Given the description of an element on the screen output the (x, y) to click on. 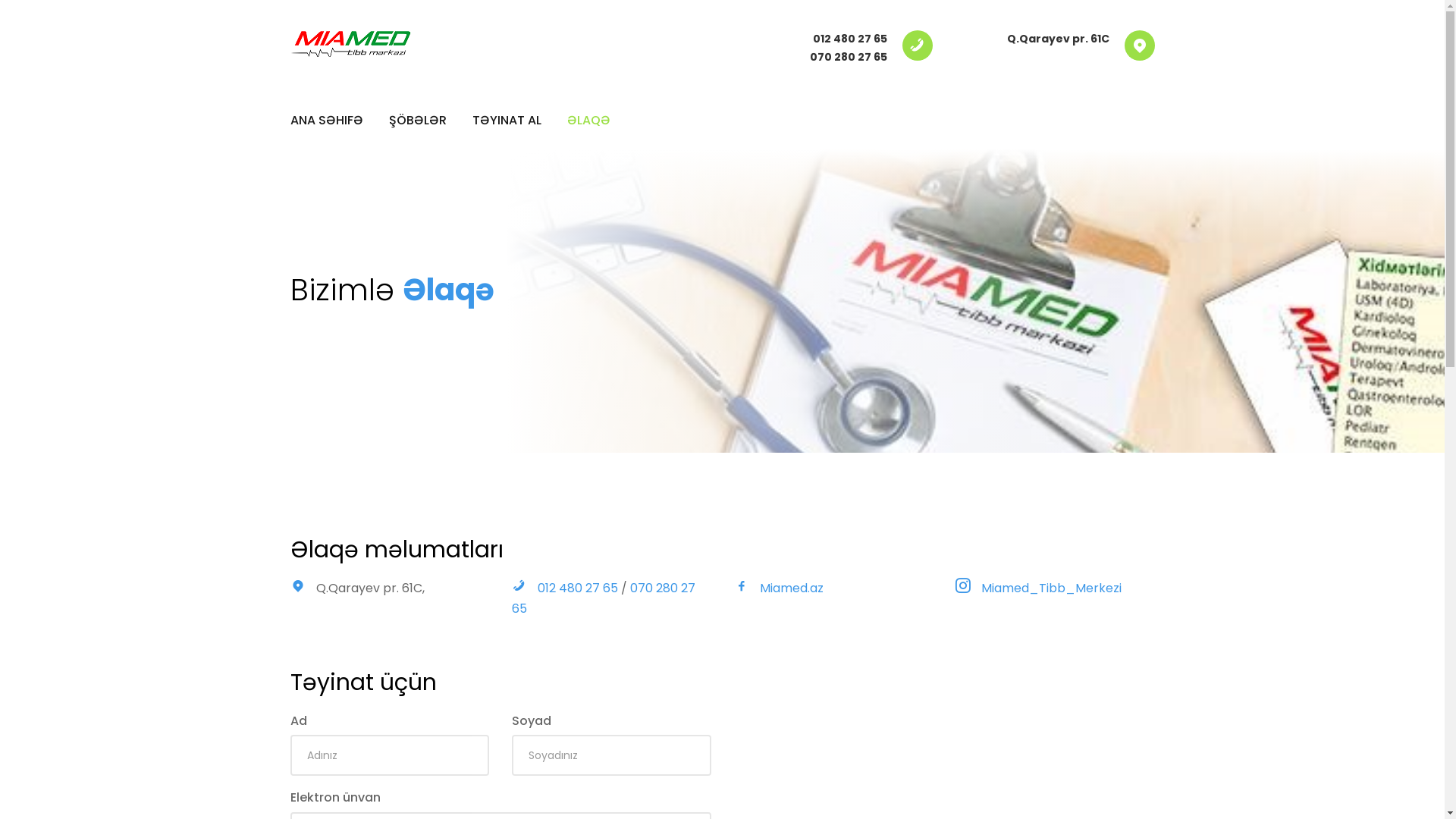
070 280 27 65 Element type: text (603, 598)
Q.Qarayev pr. 61C Element type: text (1058, 38)
Miamed.az Element type: text (791, 587)
012 480 27 65 Element type: text (849, 38)
Miamed_Tibb_Merkezi Element type: text (1051, 587)
012 480 27 65 Element type: text (579, 587)
070 280 27 65 Element type: text (848, 56)
